Given the description of an element on the screen output the (x, y) to click on. 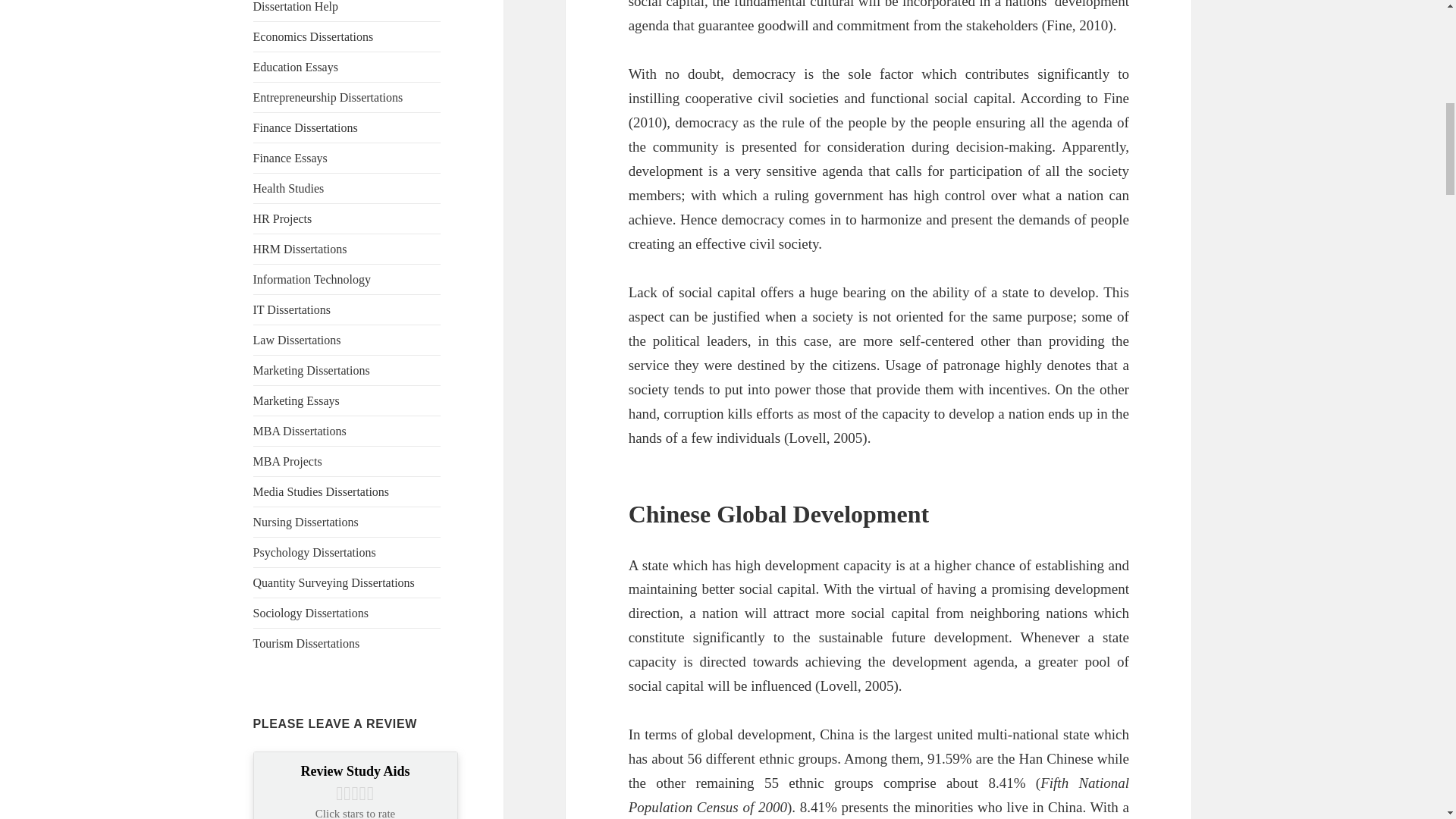
MBA Projects (287, 461)
Dissertation Help (295, 6)
Sociology Dissertations (310, 612)
MBA Dissertations (299, 431)
IT Dissertations (291, 309)
HR Projects (283, 218)
Information Technology (312, 278)
Finance Essays (290, 157)
Education Essays (295, 66)
Marketing Essays (296, 400)
Marketing Dissertations (311, 369)
Tourism Dissertations (306, 643)
Entrepreneurship Dissertations (328, 97)
Psychology Dissertations (314, 552)
Law Dissertations (296, 339)
